Given the description of an element on the screen output the (x, y) to click on. 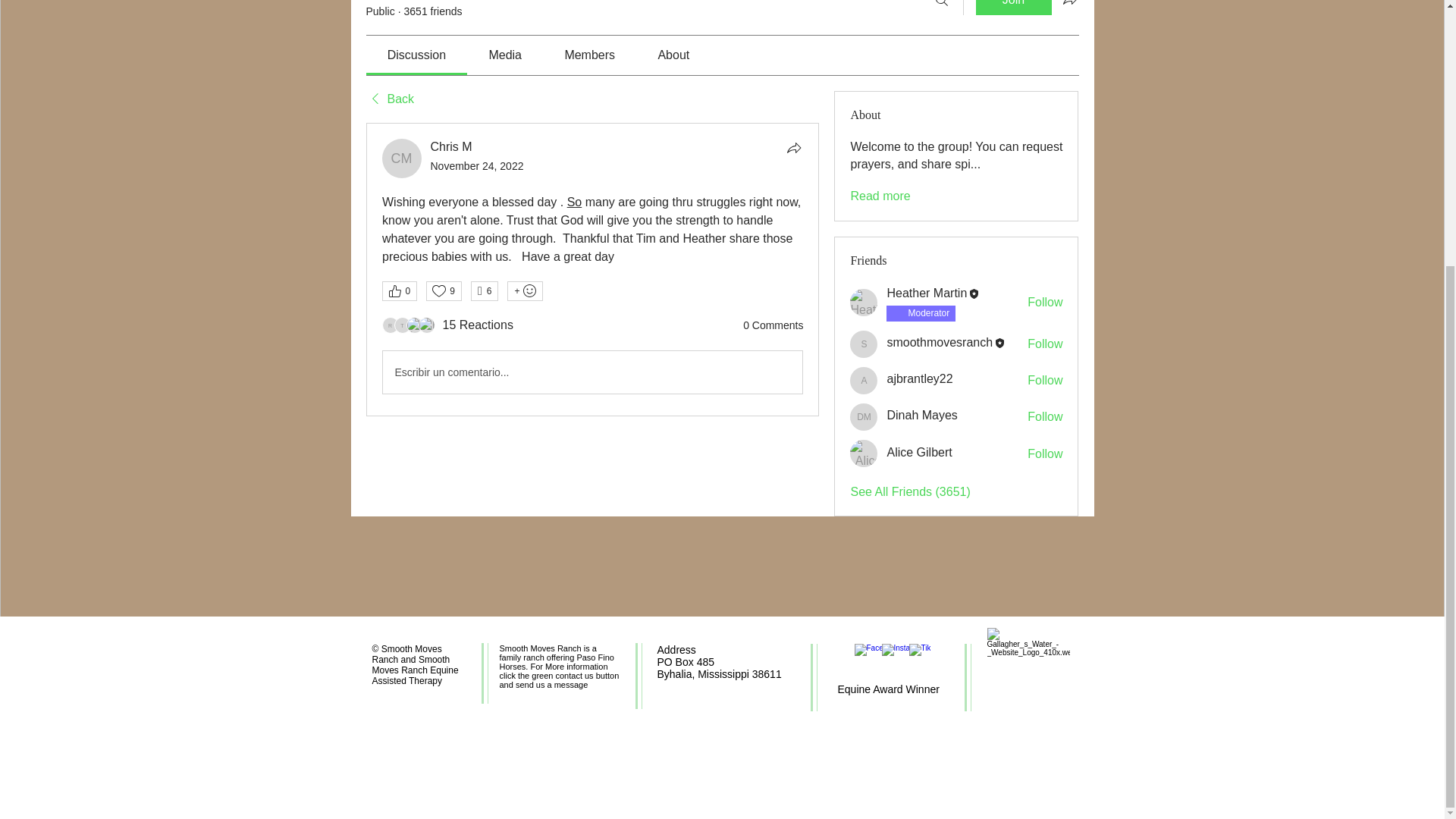
Tamara Yrigoyen (402, 324)
Rene (389, 324)
Join (1013, 7)
Dinah Mayes (863, 416)
Jan (414, 324)
Robyn Crawford (427, 324)
Heather Martin (863, 302)
smoothmovesranch (863, 343)
